Given the description of an element on the screen output the (x, y) to click on. 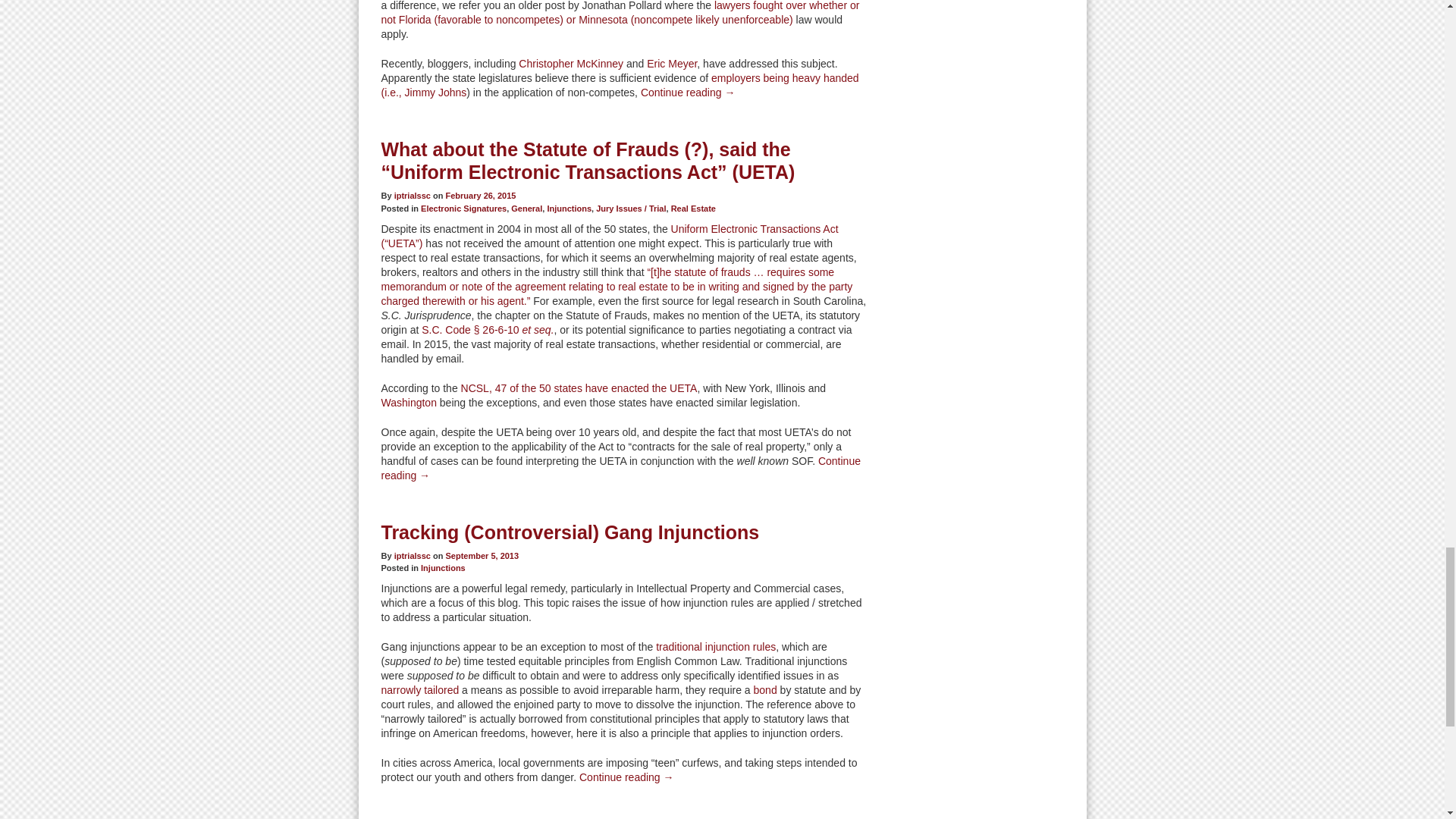
Uniform Law Commission - Electronic Transactions Act Summary (609, 235)
Non-Compete Agreements Are The New Black, Part 1 (570, 63)
